Given the description of an element on the screen output the (x, y) to click on. 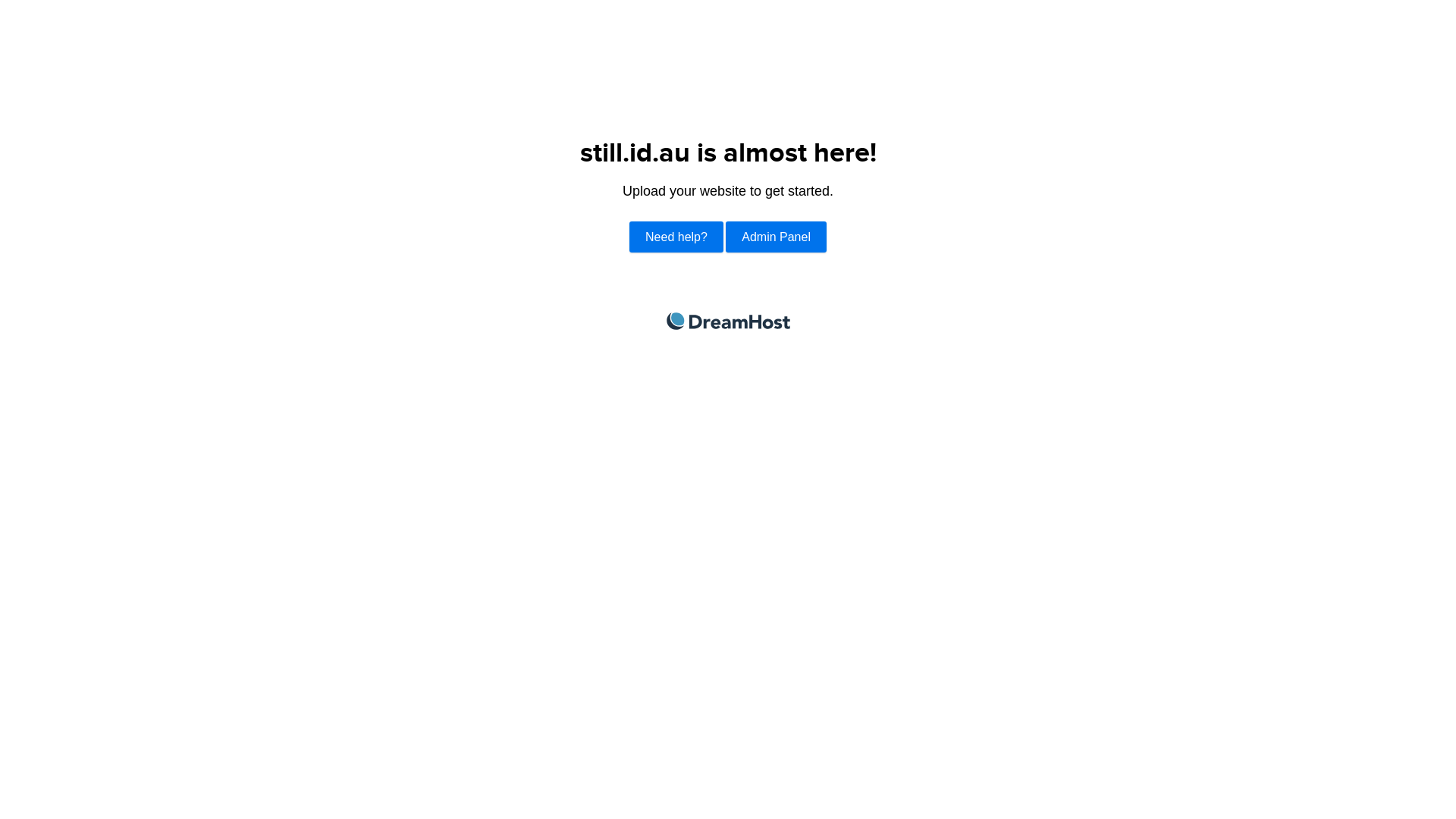
DreamHost Element type: text (727, 320)
Need help? Element type: text (675, 236)
Admin Panel Element type: text (775, 236)
